Given the description of an element on the screen output the (x, y) to click on. 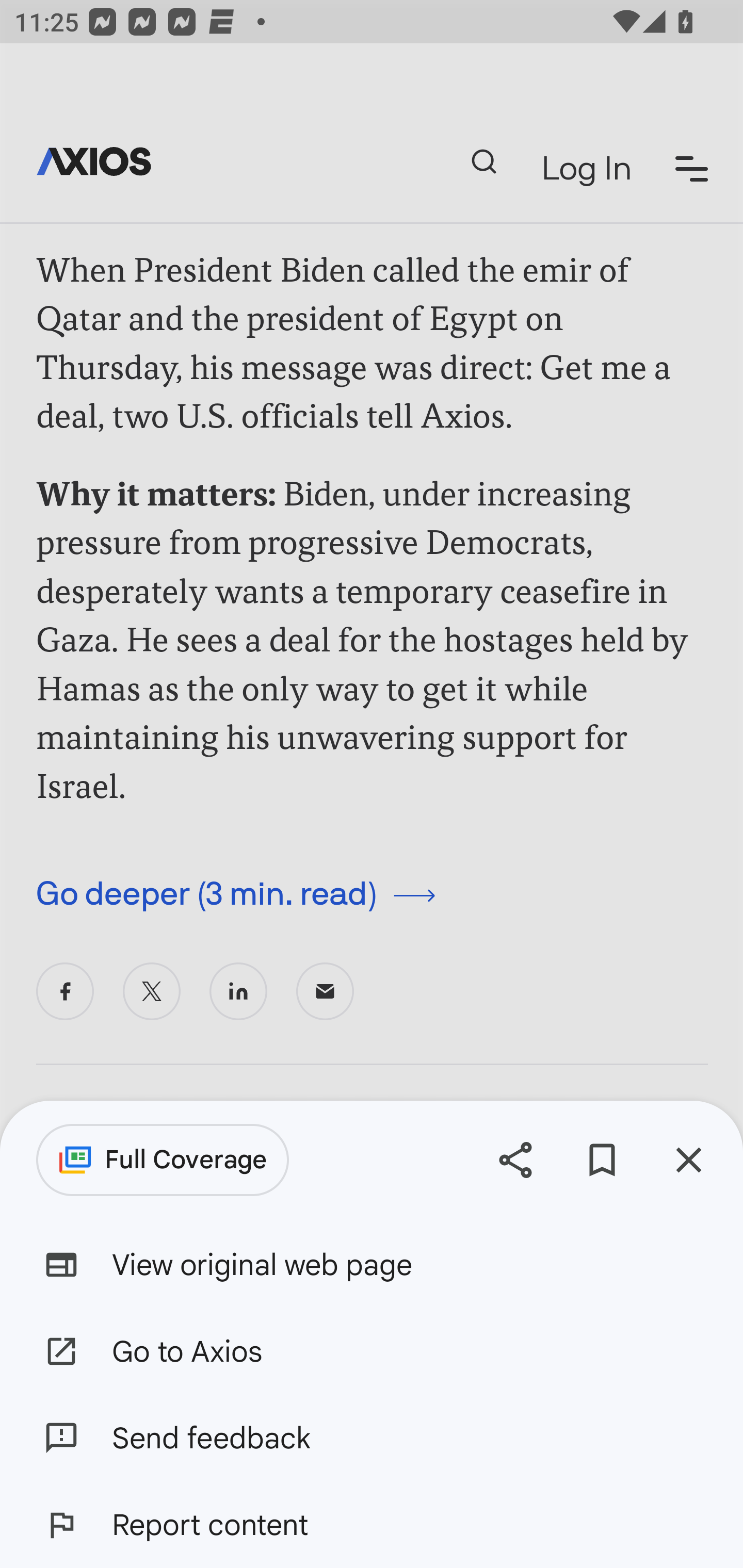
Share (514, 1159)
Save for later (601, 1159)
Close (688, 1159)
Full Coverage (162, 1160)
View original web page (371, 1264)
Go to Axios (371, 1350)
Send feedback (371, 1437)
Report content (371, 1524)
